Given the description of an element on the screen output the (x, y) to click on. 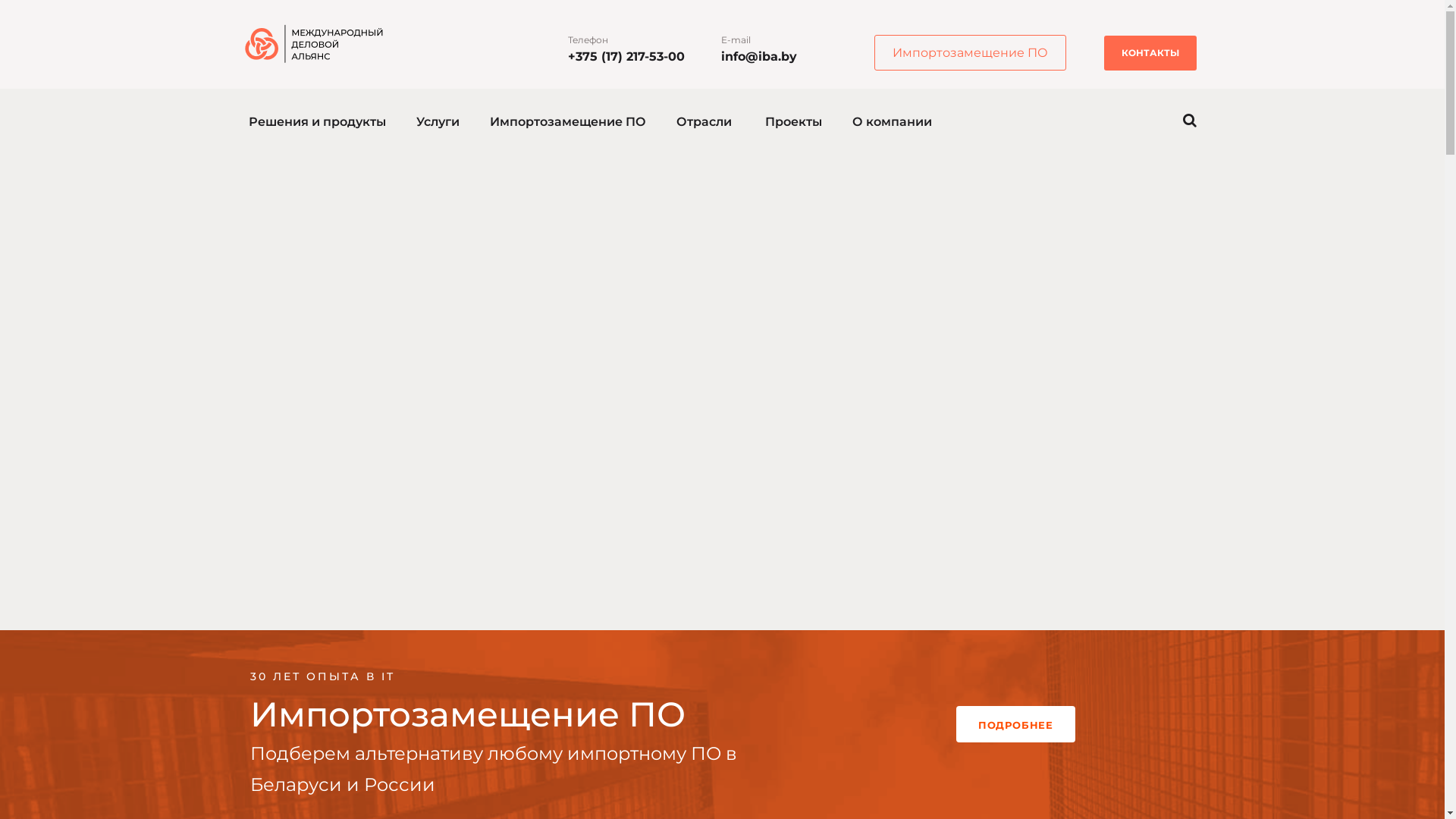
info@iba.by Element type: text (758, 56)
+375 (17) 217-53-00 Element type: text (625, 56)
logo-mda Element type: hover (316, 43)
